Given the description of an element on the screen output the (x, y) to click on. 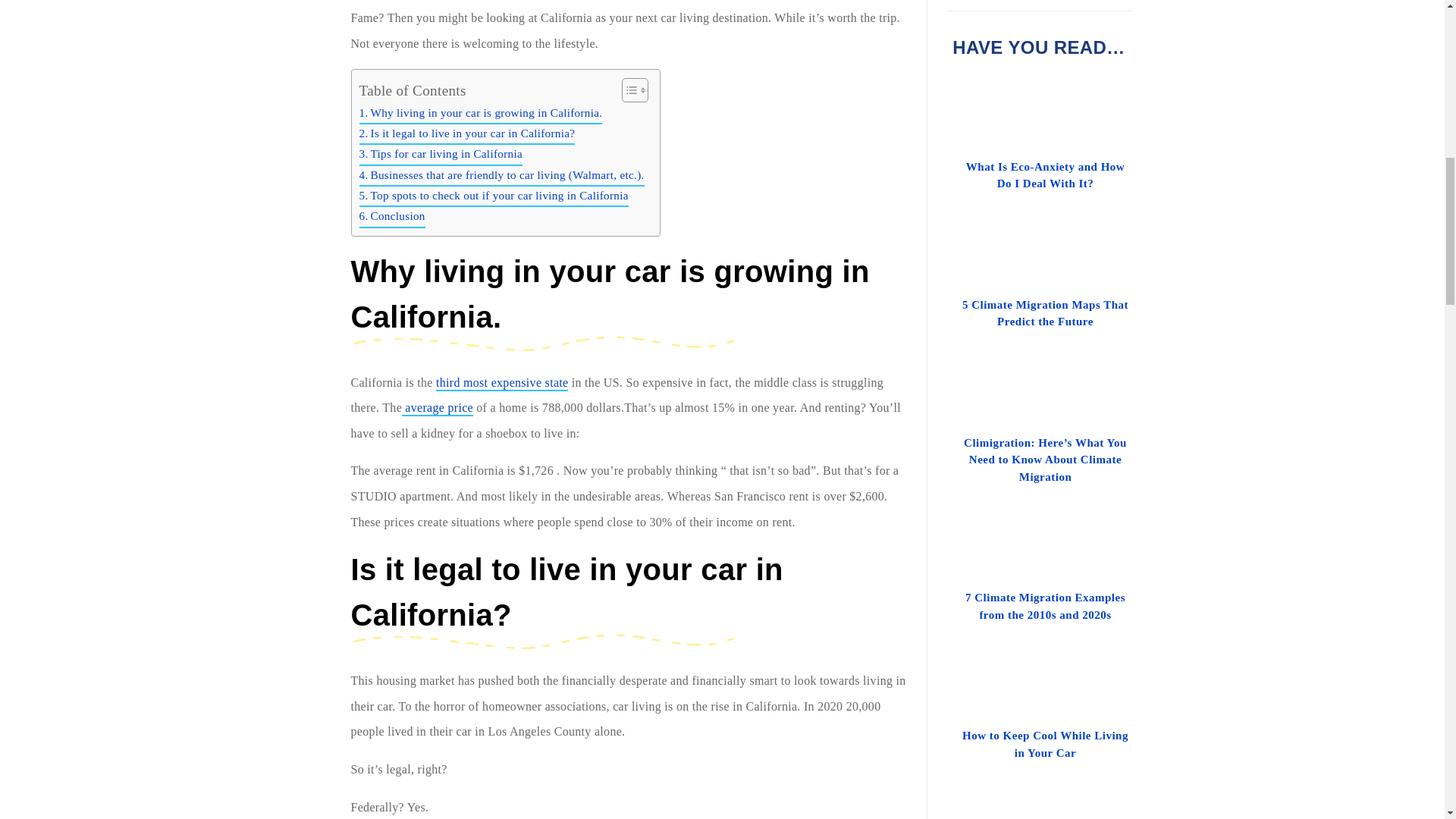
7 Climate Migration Examples from the 2010s and 2020s (1044, 567)
Why living in your car is growing in California. (480, 114)
Conclusion (392, 217)
Why living in your car is growing in California. (480, 114)
 average price (437, 408)
Tips for car living in California (440, 154)
Top spots to check out if your car living in California (493, 196)
Tips for car living in California (440, 154)
5 Climate Migration Maps That Predict the Future (1044, 274)
